Given the description of an element on the screen output the (x, y) to click on. 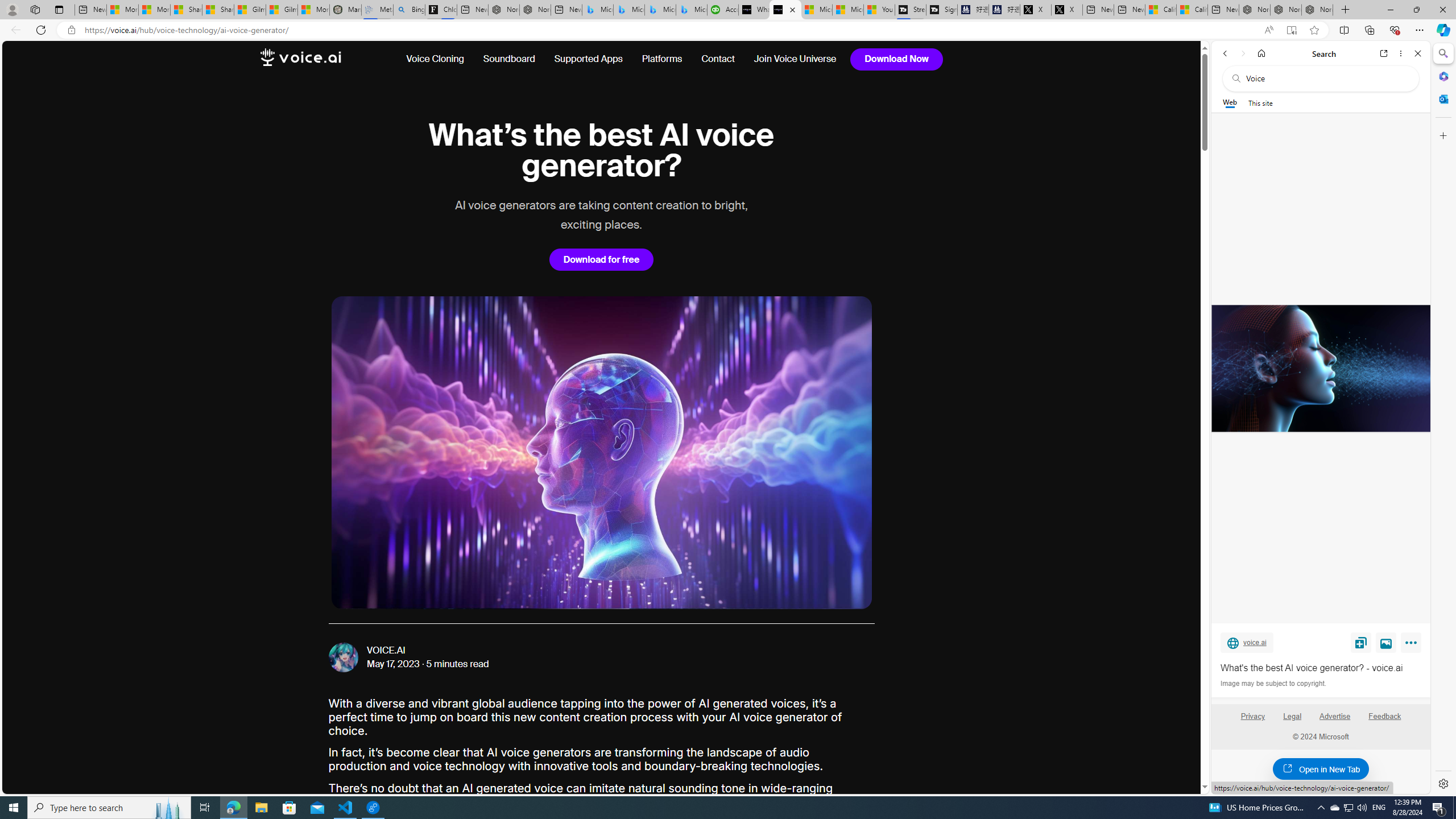
Soundboard (509, 59)
Shanghai, China weather forecast | Microsoft Weather (218, 9)
Join Voice Universe (795, 59)
X (1066, 9)
Outlook (1442, 98)
Platforms (662, 59)
5 minutes read (457, 663)
Microsoft 365 (1442, 76)
Voice Cloning (439, 59)
